Given the description of an element on the screen output the (x, y) to click on. 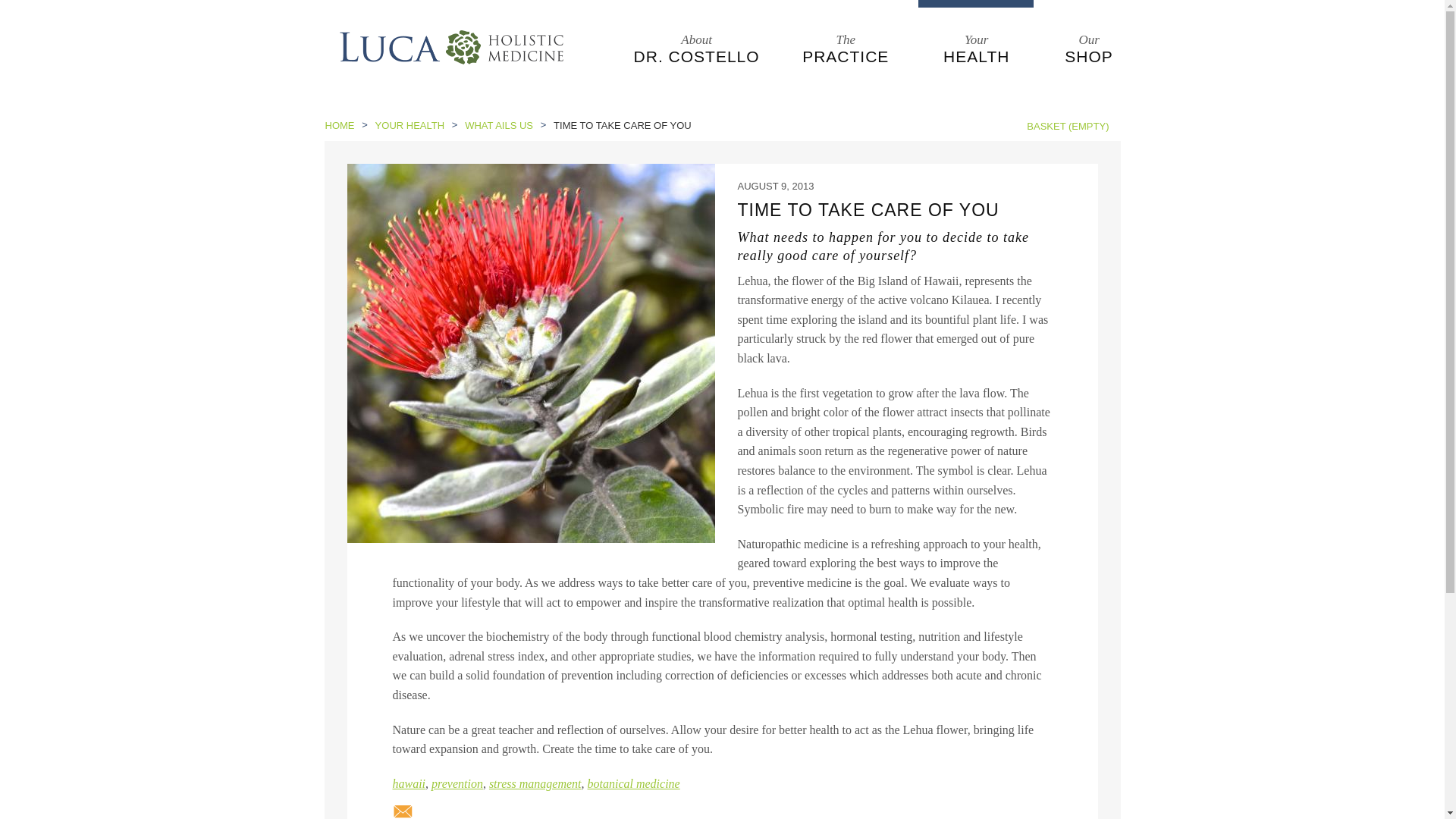
View all posts tagged 'botanical medicine' (633, 783)
View all posts tagged 'stress management' (845, 48)
stress management (534, 783)
View all posts tagged 'prevention' (534, 783)
hawaii (456, 783)
View all posts tagged 'hawaii' (409, 783)
YOUR HEALTH (696, 48)
botanical medicine (1088, 48)
HOME (409, 783)
prevention (410, 125)
WHAT AILS US (633, 783)
